Given the description of an element on the screen output the (x, y) to click on. 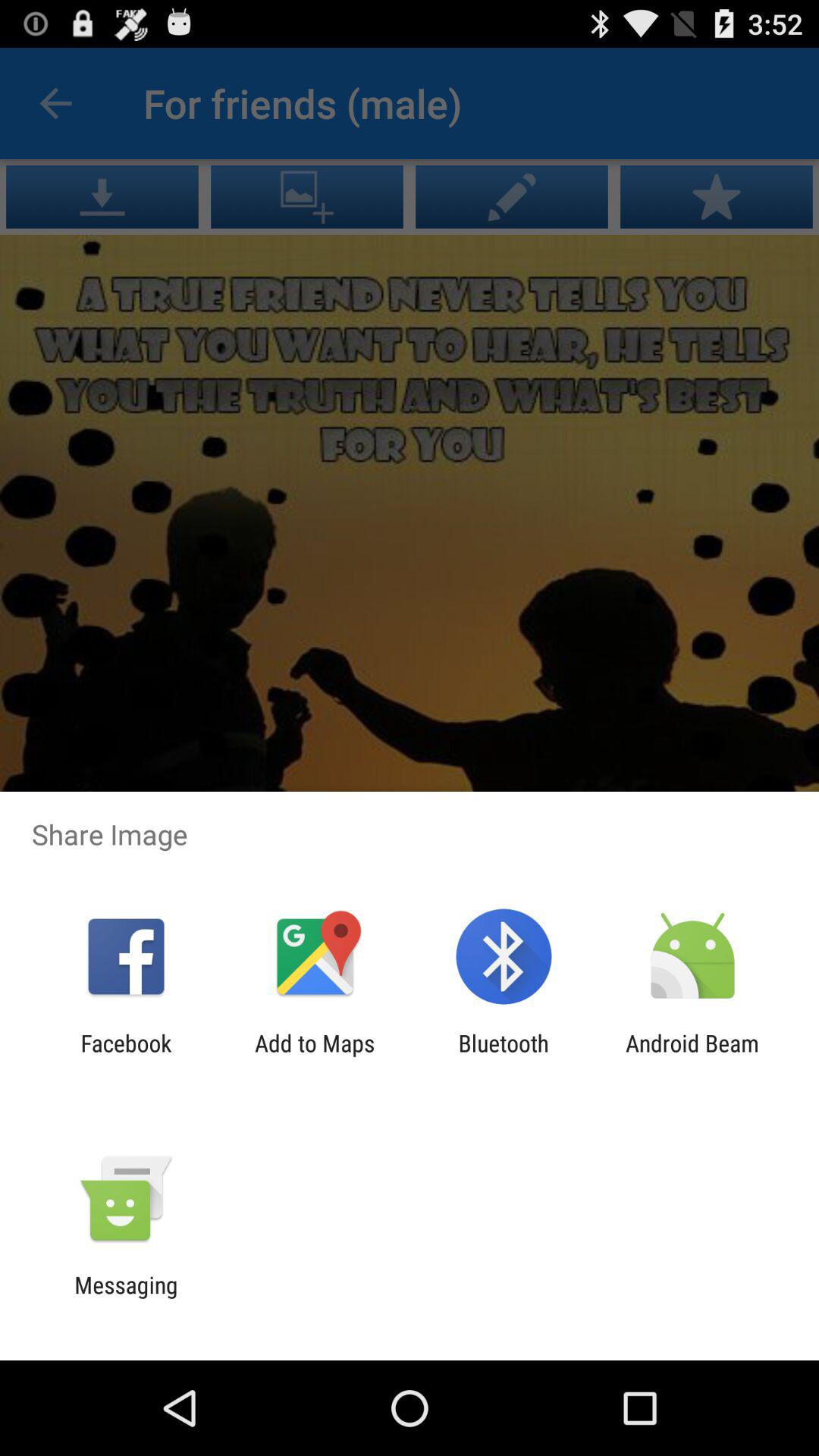
jump to android beam app (692, 1056)
